Given the description of an element on the screen output the (x, y) to click on. 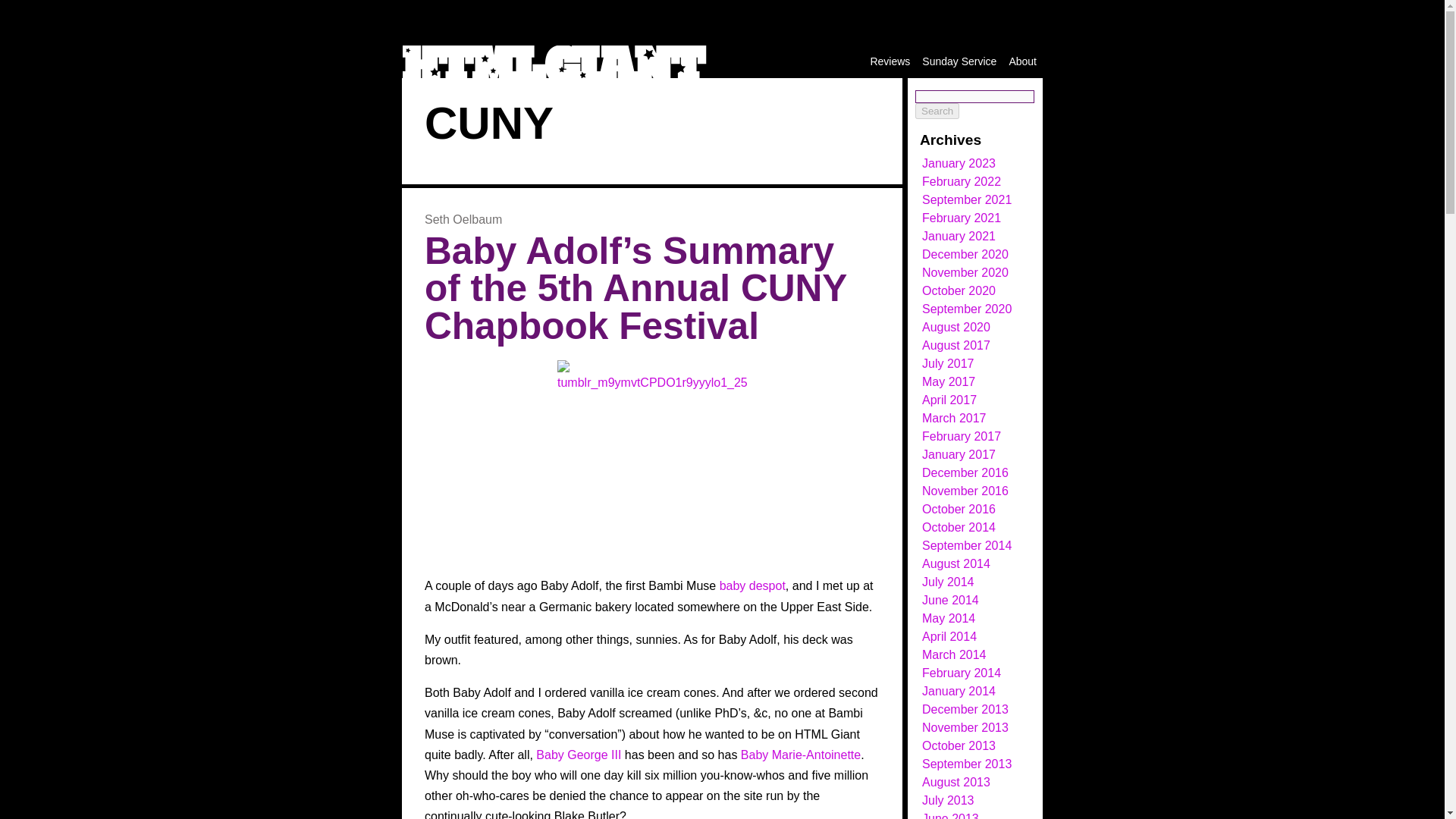
Seth Oelbaum (463, 219)
October 2020 (958, 290)
July 2017 (947, 363)
November 2020 (965, 272)
Sunday Service (958, 61)
baby despot (752, 585)
February 2022 (961, 181)
December 2020 (965, 254)
About (1022, 61)
September 2020 (966, 308)
January 2023 (958, 163)
May 2017 (948, 381)
August 2017 (955, 345)
February 2021 (961, 217)
Baby Marie-Antoinette (800, 754)
